Given the description of an element on the screen output the (x, y) to click on. 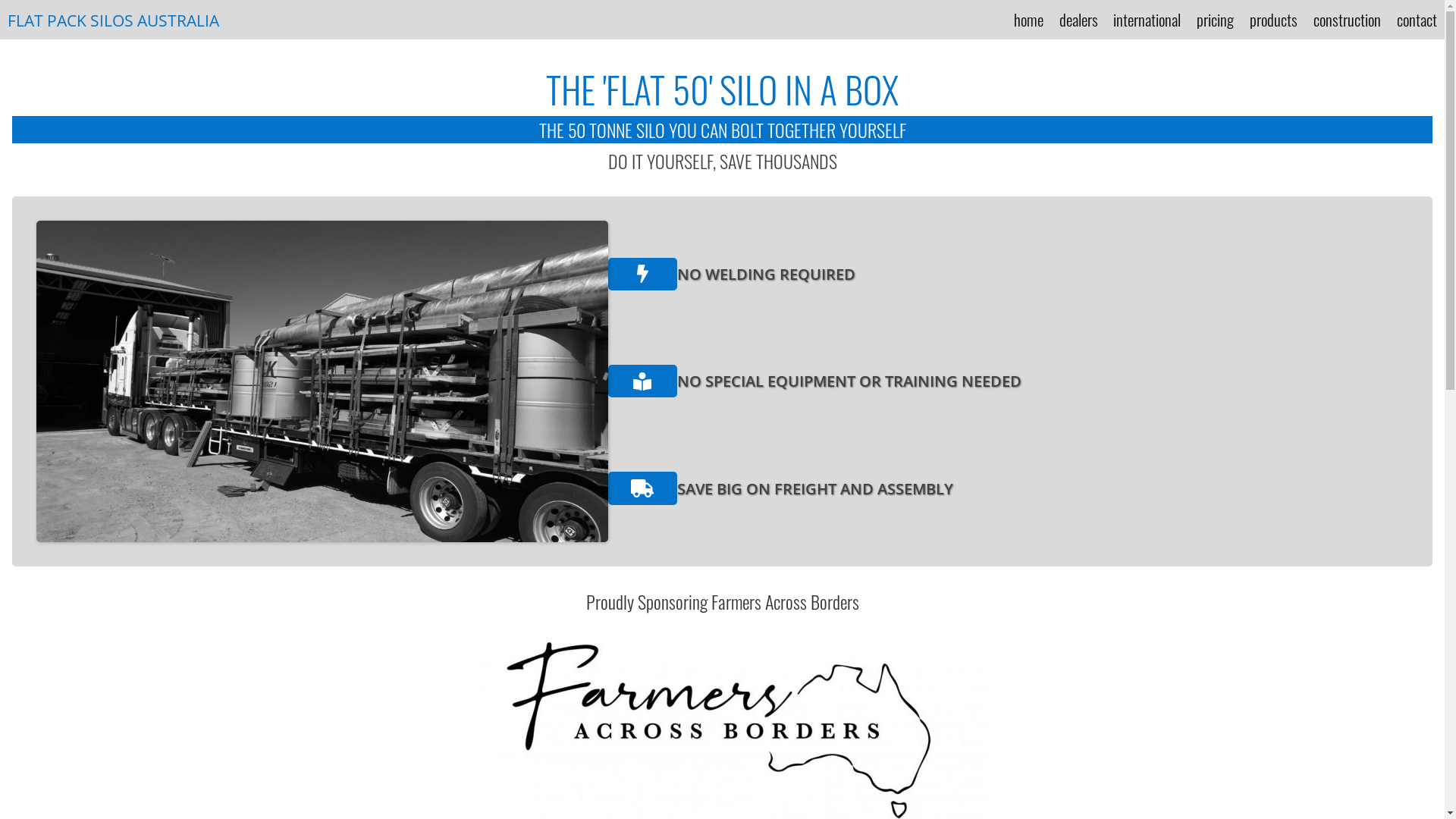
international Element type: text (1146, 19)
pricing Element type: text (1214, 19)
FLAT PACK SILOS AUSTRALIA Element type: text (113, 20)
construction Element type: text (1346, 19)
dealers Element type: text (1078, 19)
products Element type: text (1273, 19)
home Element type: text (1028, 19)
contact Element type: text (1416, 19)
